Given the description of an element on the screen output the (x, y) to click on. 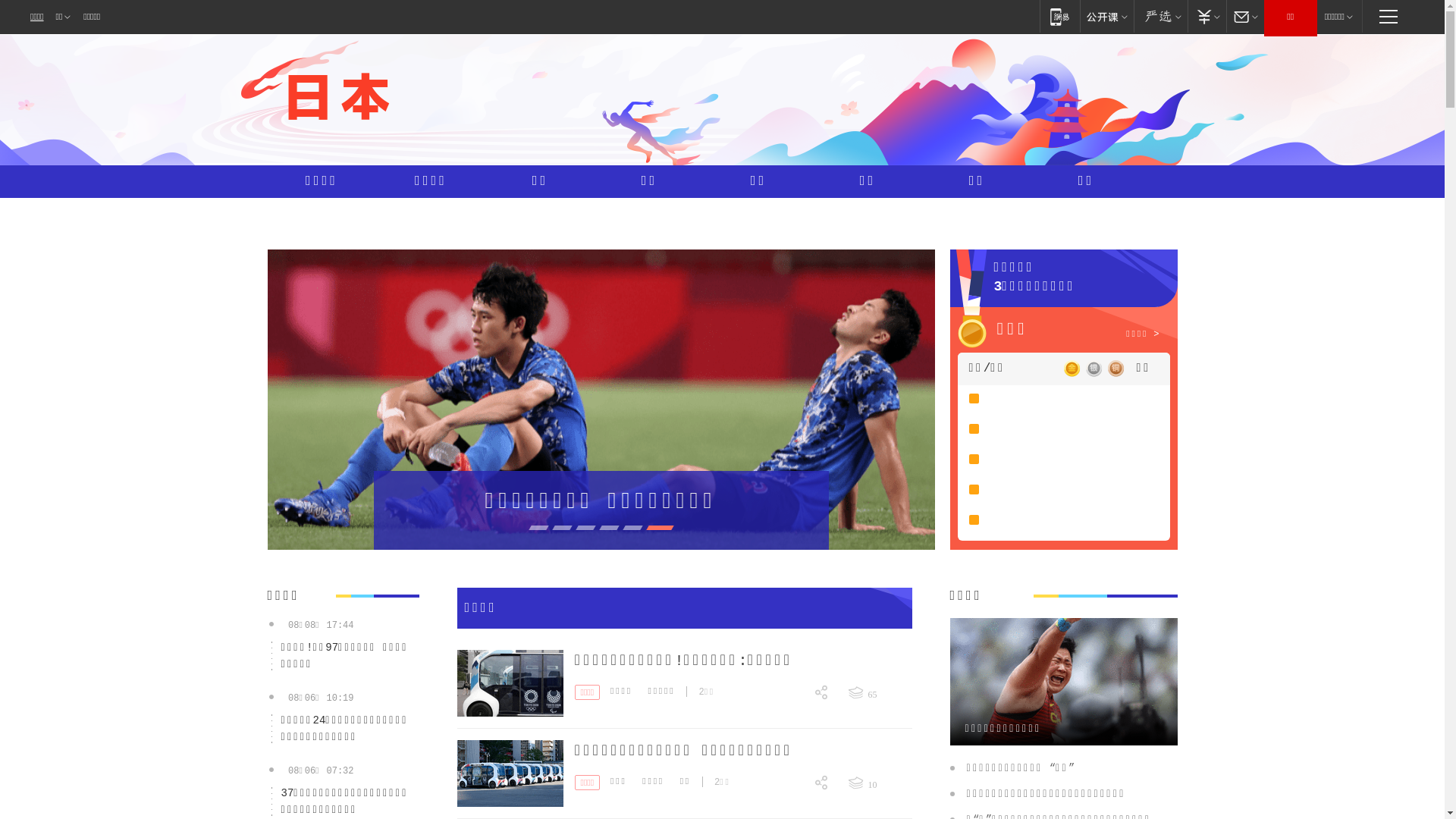
65 Element type: text (879, 691)
10 Element type: text (879, 782)
